Given the description of an element on the screen output the (x, y) to click on. 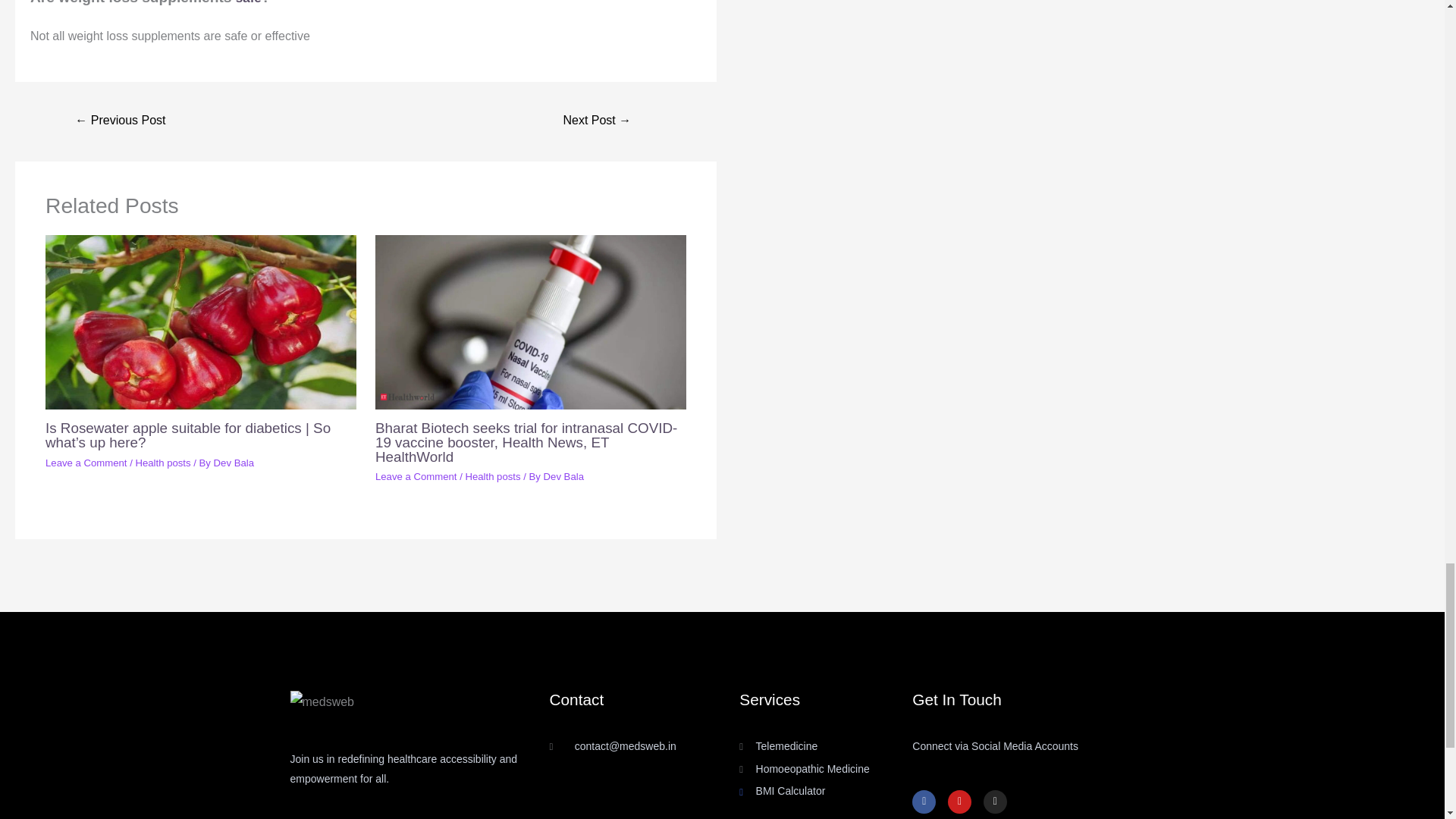
Dev Bala (563, 476)
Dev Bala (233, 462)
Health posts (491, 476)
Youtube (959, 802)
View all posts by Dev Bala (563, 476)
Health posts (162, 462)
Leave a Comment (86, 462)
Facebook-f (924, 802)
BMI Calculator (825, 791)
safe (248, 2)
Leave a Comment (416, 476)
7-Day Diet Plan for Weight Loss (597, 121)
View all posts by Dev Bala (233, 462)
